Given the description of an element on the screen output the (x, y) to click on. 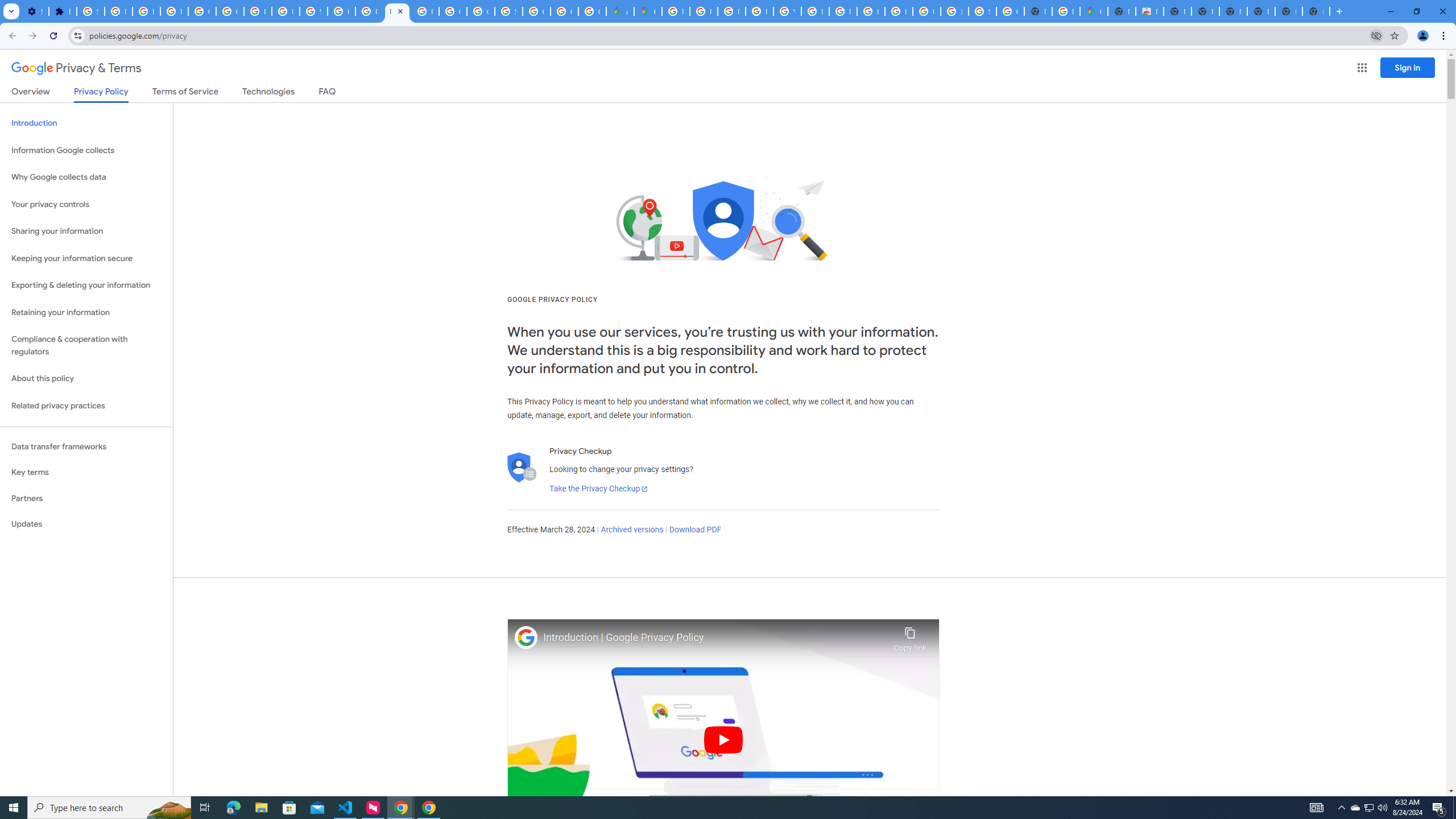
Privacy Help Center - Policies Help (369, 11)
Third-party cookies blocked (1376, 35)
Introduction (86, 122)
Settings - On startup (34, 11)
Retaining your information (86, 312)
Take the Privacy Checkup (597, 488)
Delete photos & videos - Computer - Google Photos Help (118, 11)
Photo image of Google (526, 636)
